Given the description of an element on the screen output the (x, y) to click on. 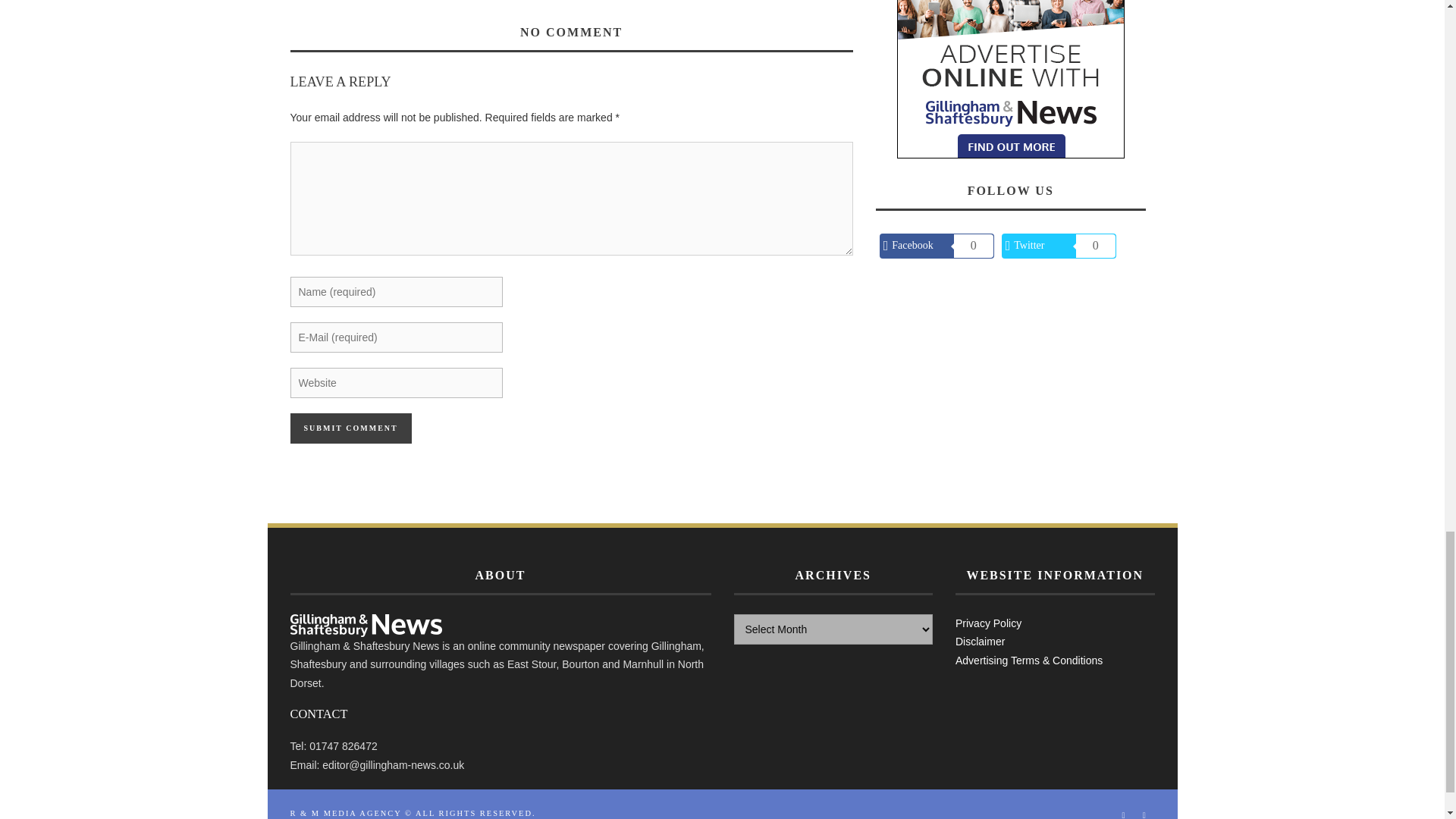
Submit comment (349, 428)
